Given the description of an element on the screen output the (x, y) to click on. 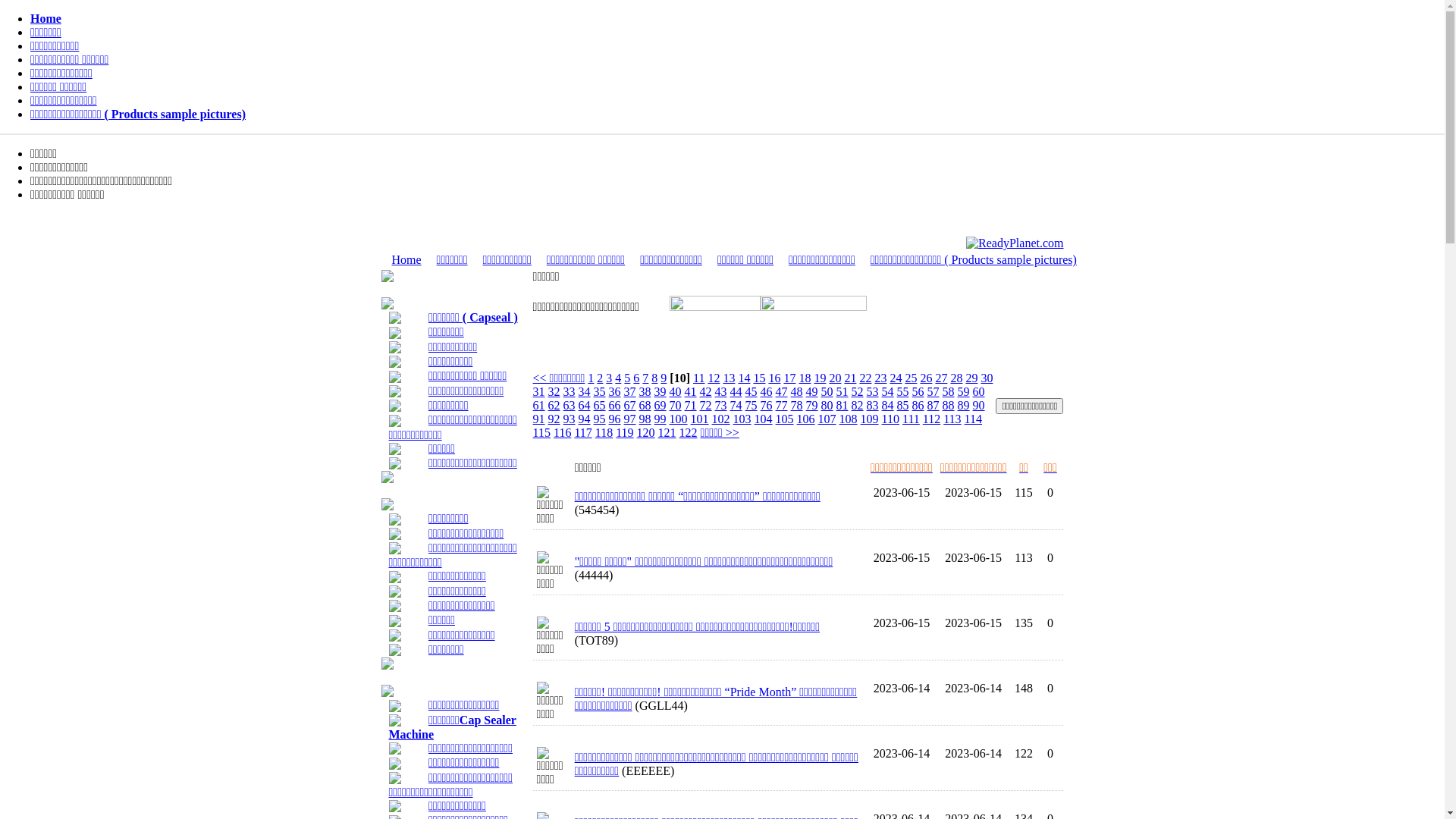
86 Element type: text (918, 404)
40 Element type: text (675, 391)
111 Element type: text (910, 418)
80 Element type: text (827, 404)
68 Element type: text (645, 404)
118 Element type: text (603, 432)
77 Element type: text (781, 404)
4 Element type: text (618, 377)
27 Element type: text (941, 377)
94 Element type: text (584, 418)
122 Element type: text (688, 432)
18 Element type: text (804, 377)
96 Element type: text (614, 418)
12 Element type: text (713, 377)
75 Element type: text (751, 404)
65 Element type: text (599, 404)
35 Element type: text (599, 391)
85 Element type: text (903, 404)
52 Element type: text (857, 391)
19 Element type: text (819, 377)
78 Element type: text (796, 404)
55 Element type: text (903, 391)
119 Element type: text (624, 432)
101 Element type: text (699, 418)
44 Element type: text (736, 391)
73 Element type: text (721, 404)
2 Element type: text (599, 377)
58 Element type: text (948, 391)
14 Element type: text (743, 377)
72 Element type: text (705, 404)
7 Element type: text (645, 377)
88 Element type: text (948, 404)
51 Element type: text (842, 391)
103 Element type: text (742, 418)
62 Element type: text (554, 404)
22 Element type: text (865, 377)
21 Element type: text (850, 377)
100 Element type: text (678, 418)
38 Element type: text (645, 391)
98 Element type: text (645, 418)
63 Element type: text (569, 404)
54 Element type: text (887, 391)
16 Element type: text (774, 377)
23 Element type: text (880, 377)
39 Element type: text (660, 391)
67 Element type: text (630, 404)
90 Element type: text (978, 404)
31 Element type: text (539, 391)
108 Element type: text (848, 418)
66 Element type: text (614, 404)
89 Element type: text (963, 404)
46 Element type: text (766, 391)
112 Element type: text (931, 418)
81 Element type: text (842, 404)
59 Element type: text (963, 391)
5 Element type: text (627, 377)
29 Element type: text (971, 377)
99 Element type: text (660, 418)
33 Element type: text (569, 391)
115 Element type: text (541, 432)
3 Element type: text (608, 377)
113 Element type: text (951, 418)
49 Element type: text (812, 391)
11 Element type: text (698, 377)
8 Element type: text (654, 377)
95 Element type: text (599, 418)
61 Element type: text (539, 404)
97 Element type: text (630, 418)
36 Element type: text (614, 391)
6 Element type: text (636, 377)
60 Element type: text (978, 391)
114 Element type: text (973, 418)
57 Element type: text (933, 391)
109 Element type: text (869, 418)
47 Element type: text (781, 391)
107 Element type: text (827, 418)
53 Element type: text (872, 391)
82 Element type: text (857, 404)
43 Element type: text (721, 391)
28 Element type: text (956, 377)
64 Element type: text (584, 404)
17 Element type: text (789, 377)
84 Element type: text (887, 404)
120 Element type: text (646, 432)
83 Element type: text (872, 404)
26 Element type: text (925, 377)
105 Element type: text (784, 418)
50 Element type: text (827, 391)
45 Element type: text (751, 391)
69 Element type: text (660, 404)
32 Element type: text (554, 391)
15 Element type: text (759, 377)
74 Element type: text (736, 404)
48 Element type: text (796, 391)
110 Element type: text (890, 418)
87 Element type: text (933, 404)
ReadyPlanet.com Element type: hover (1014, 243)
37 Element type: text (630, 391)
34 Element type: text (584, 391)
93 Element type: text (569, 418)
106 Element type: text (806, 418)
91 Element type: text (539, 418)
13 Element type: text (728, 377)
1 Element type: text (590, 377)
Home Element type: text (405, 259)
9 Element type: text (663, 377)
56 Element type: text (918, 391)
76 Element type: text (766, 404)
102 Element type: text (721, 418)
71 Element type: text (690, 404)
121 Element type: text (667, 432)
104 Element type: text (763, 418)
42 Element type: text (705, 391)
30 Element type: text (986, 377)
92 Element type: text (554, 418)
24 Element type: text (895, 377)
117 Element type: text (582, 432)
41 Element type: text (690, 391)
25 Element type: text (910, 377)
Home Element type: text (45, 18)
70 Element type: text (675, 404)
20 Element type: text (834, 377)
79 Element type: text (812, 404)
116 Element type: text (562, 432)
